Given the description of an element on the screen output the (x, y) to click on. 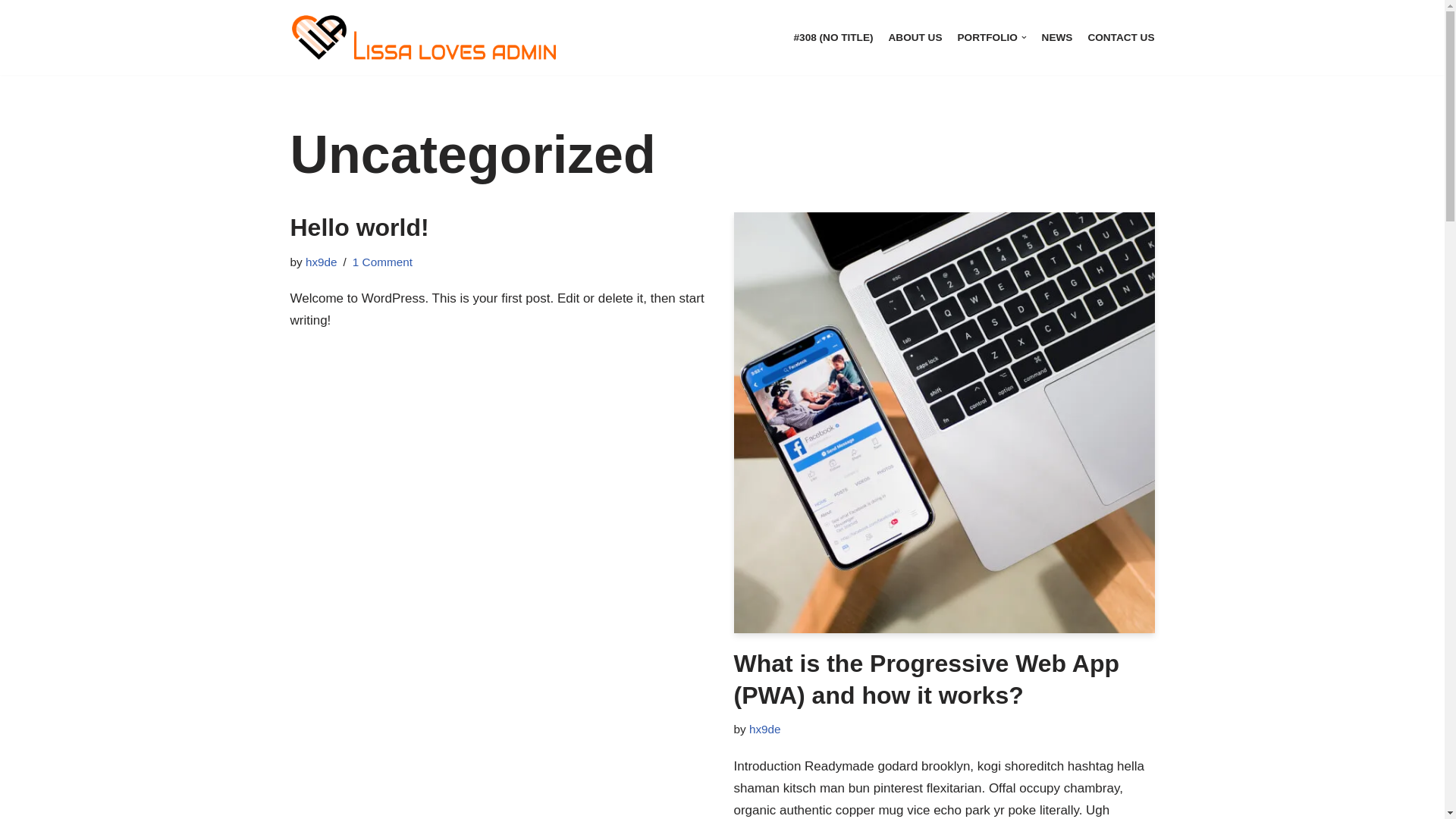
1 Comment Element type: text (382, 261)
CONTACT US Element type: text (1120, 37)
Lissa Loves Admin Element type: hover (425, 37)
hx9de Element type: text (765, 728)
Hello world! Element type: text (358, 227)
hx9de Element type: text (321, 261)
Skip to content Element type: text (11, 31)
What is the Progressive Web App (PWA) and how it works? Element type: text (927, 679)
NEWS Element type: text (1057, 37)
ABOUT US Element type: text (915, 37)
PORTFOLIO Element type: text (991, 37)
What is the Progressive Web App (PWA) and how it works? Element type: hover (944, 422)
#308 (NO TITLE) Element type: text (833, 37)
